Given the description of an element on the screen output the (x, y) to click on. 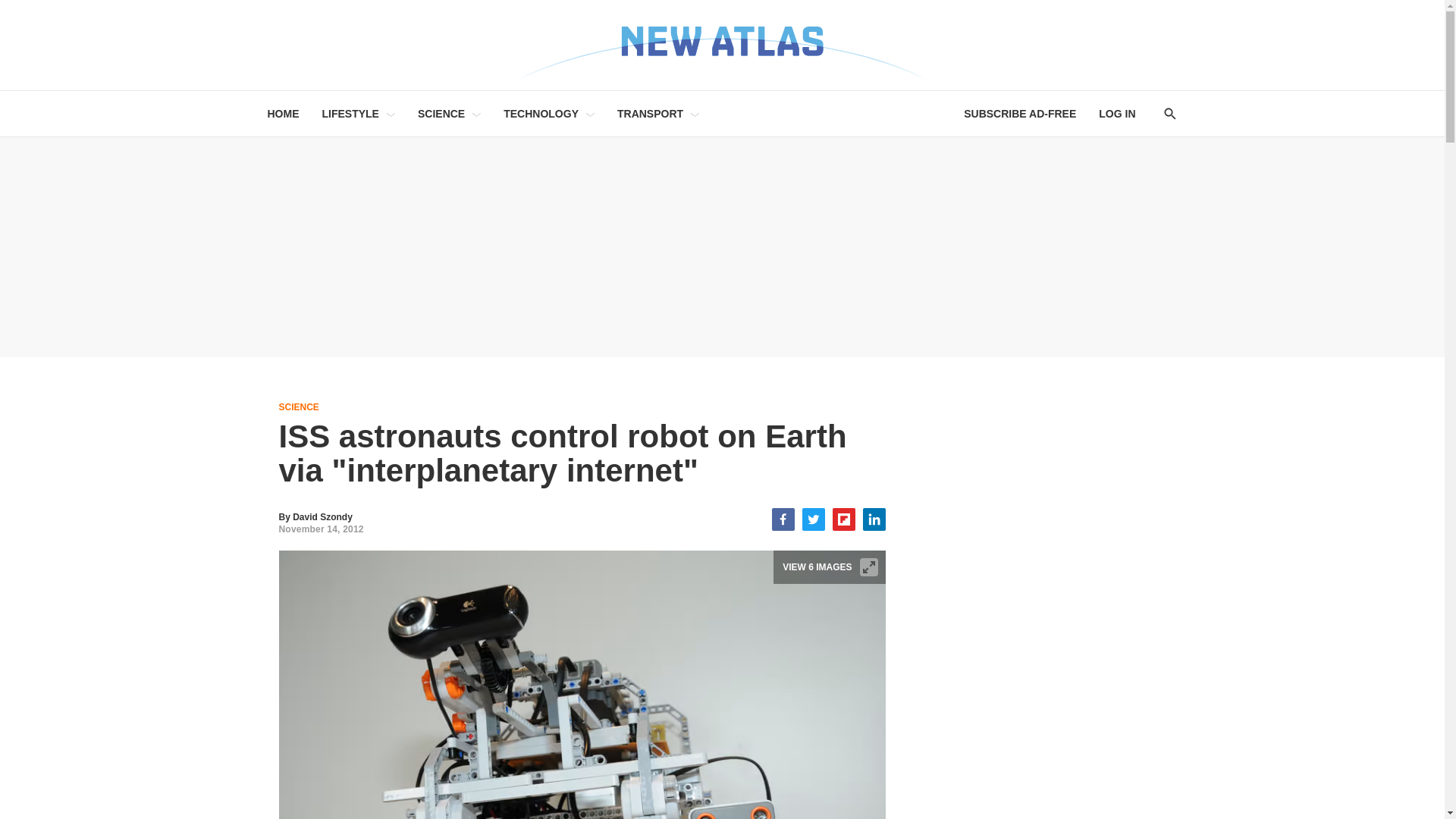
View full-screen (868, 566)
